Given the description of an element on the screen output the (x, y) to click on. 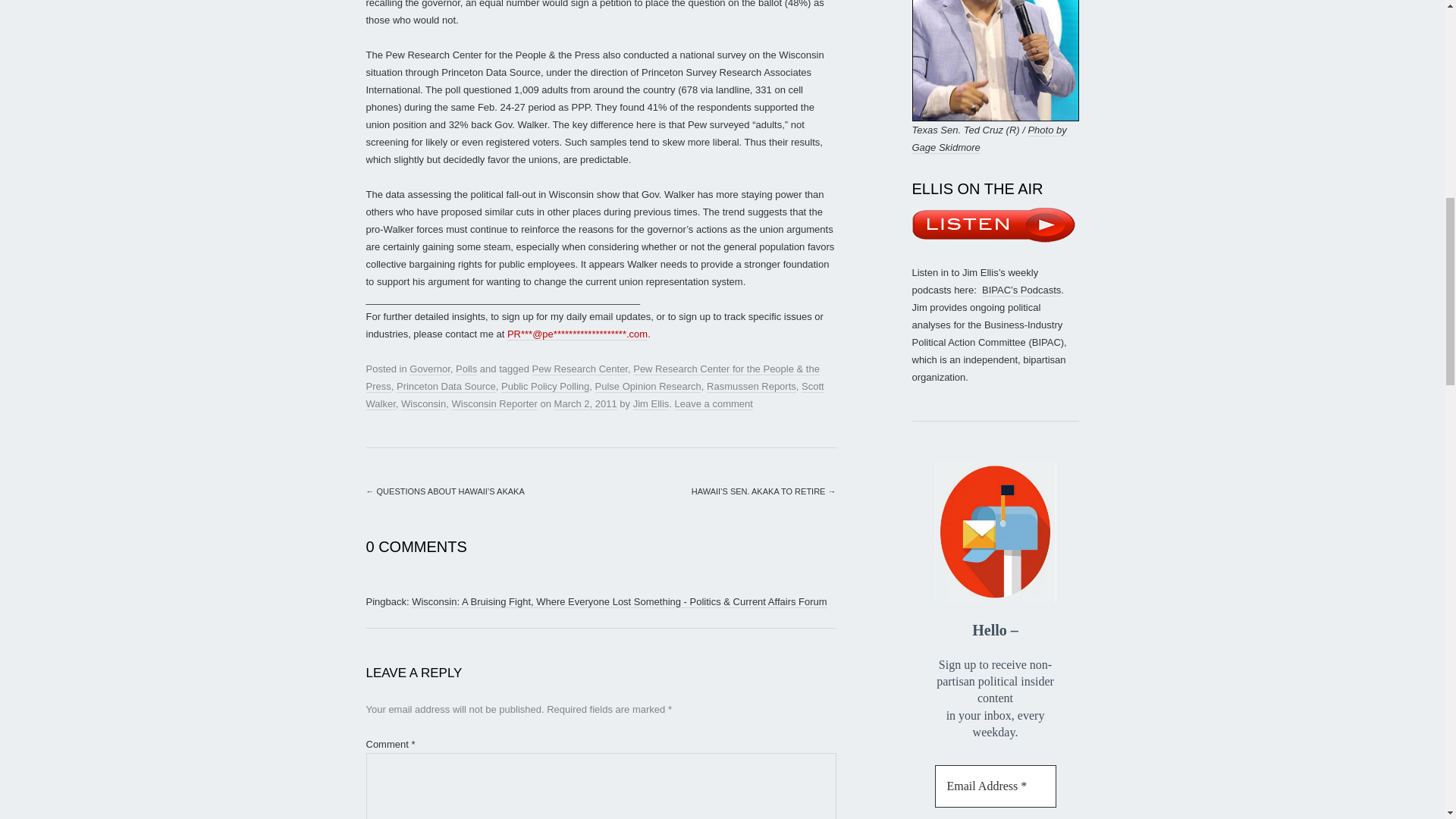
8:20 am (585, 404)
View all posts by Jim Ellis (651, 404)
Email Address (994, 785)
